Given the description of an element on the screen output the (x, y) to click on. 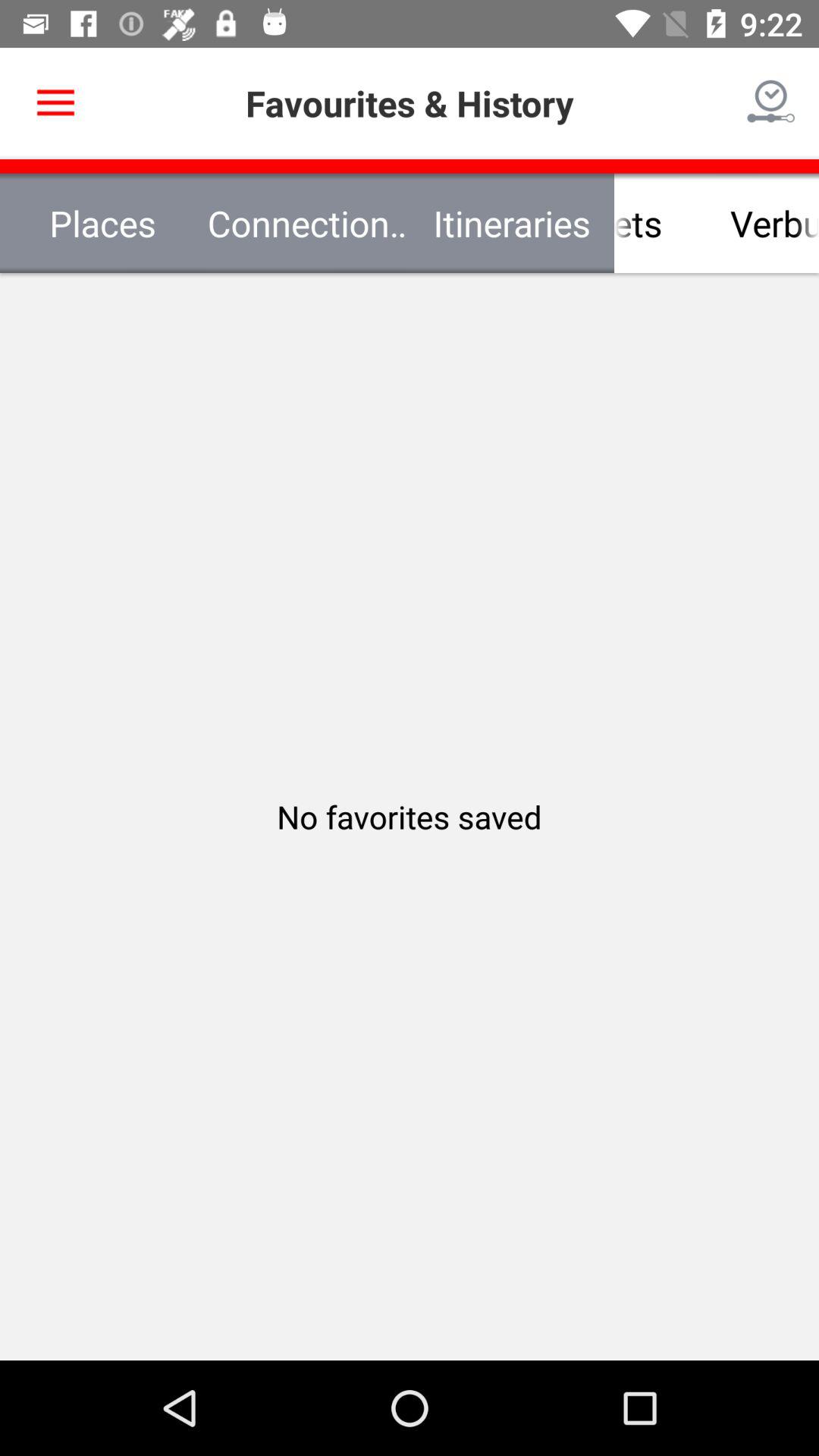
click connection requests (306, 223)
